Given the description of an element on the screen output the (x, y) to click on. 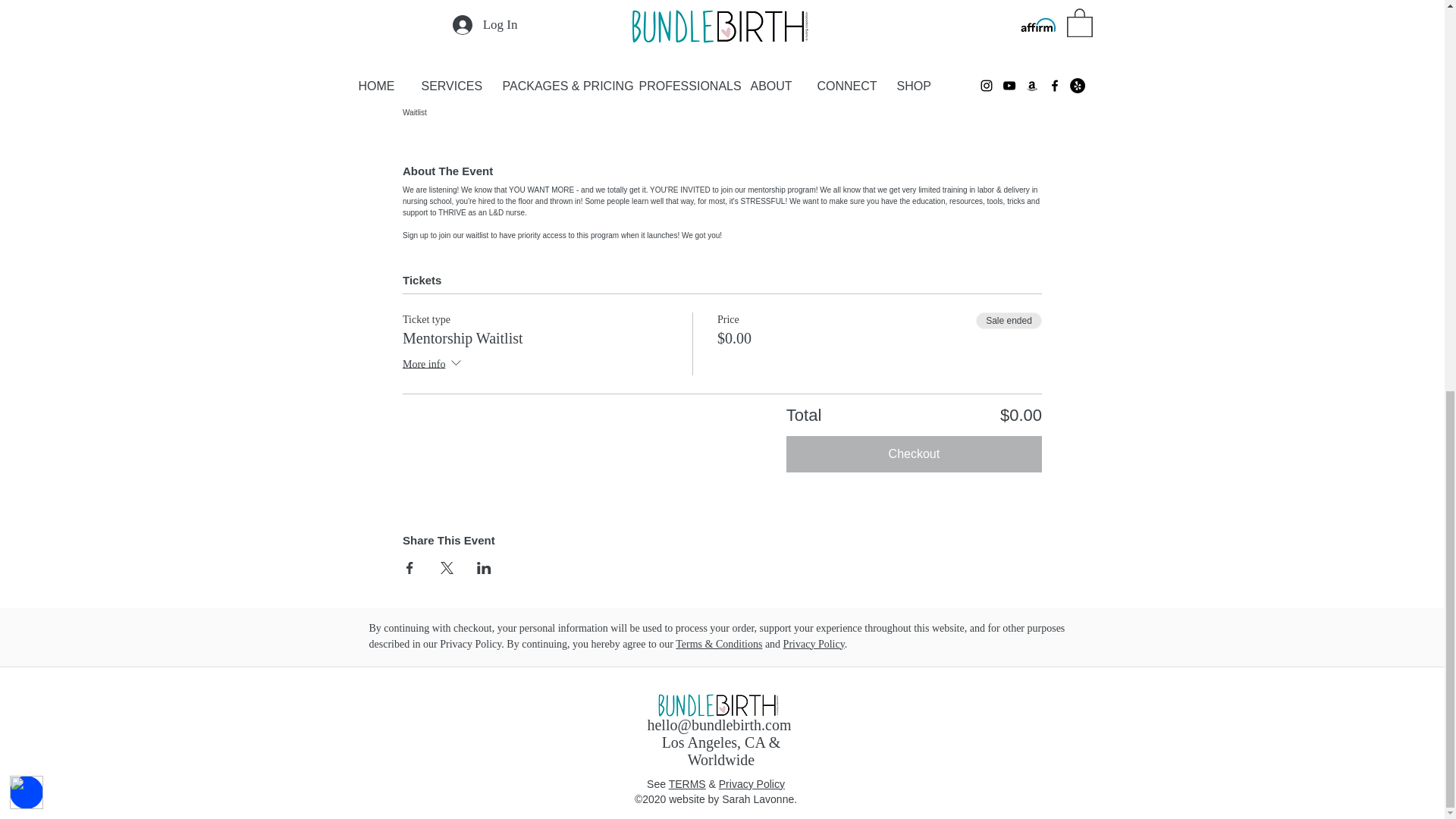
Accessibility Menu (26, 46)
Privacy Policy (813, 644)
Checkout (914, 453)
More info (433, 364)
